Given the description of an element on the screen output the (x, y) to click on. 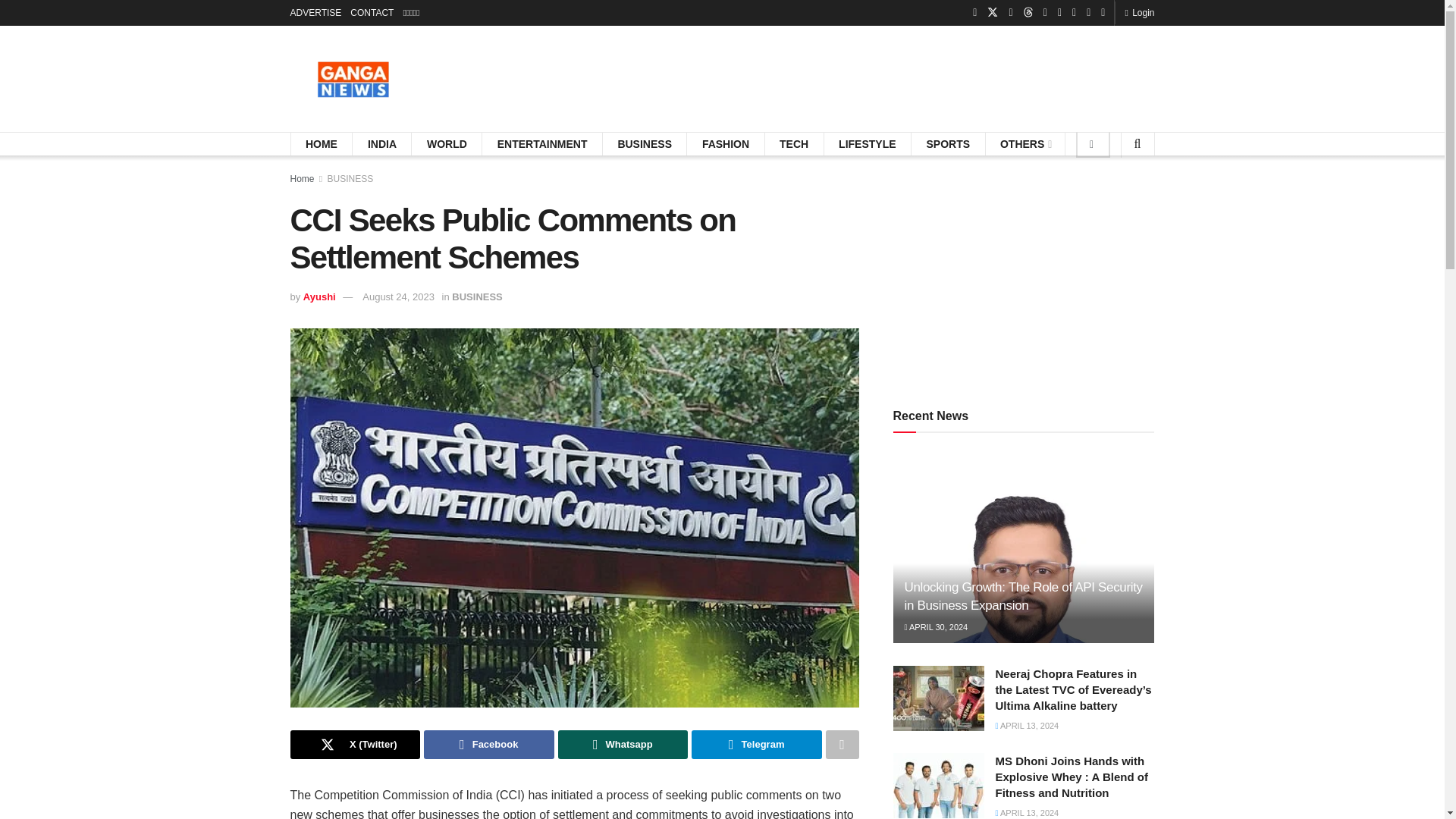
INDIA (382, 143)
ENTERTAINMENT (542, 143)
Advertisement (1023, 272)
OTHERS (1024, 143)
ADVERTISE (314, 12)
Advertisement (878, 76)
SPORTS (947, 143)
WORLD (446, 143)
Login (1139, 12)
BUSINESS (644, 143)
